Given the description of an element on the screen output the (x, y) to click on. 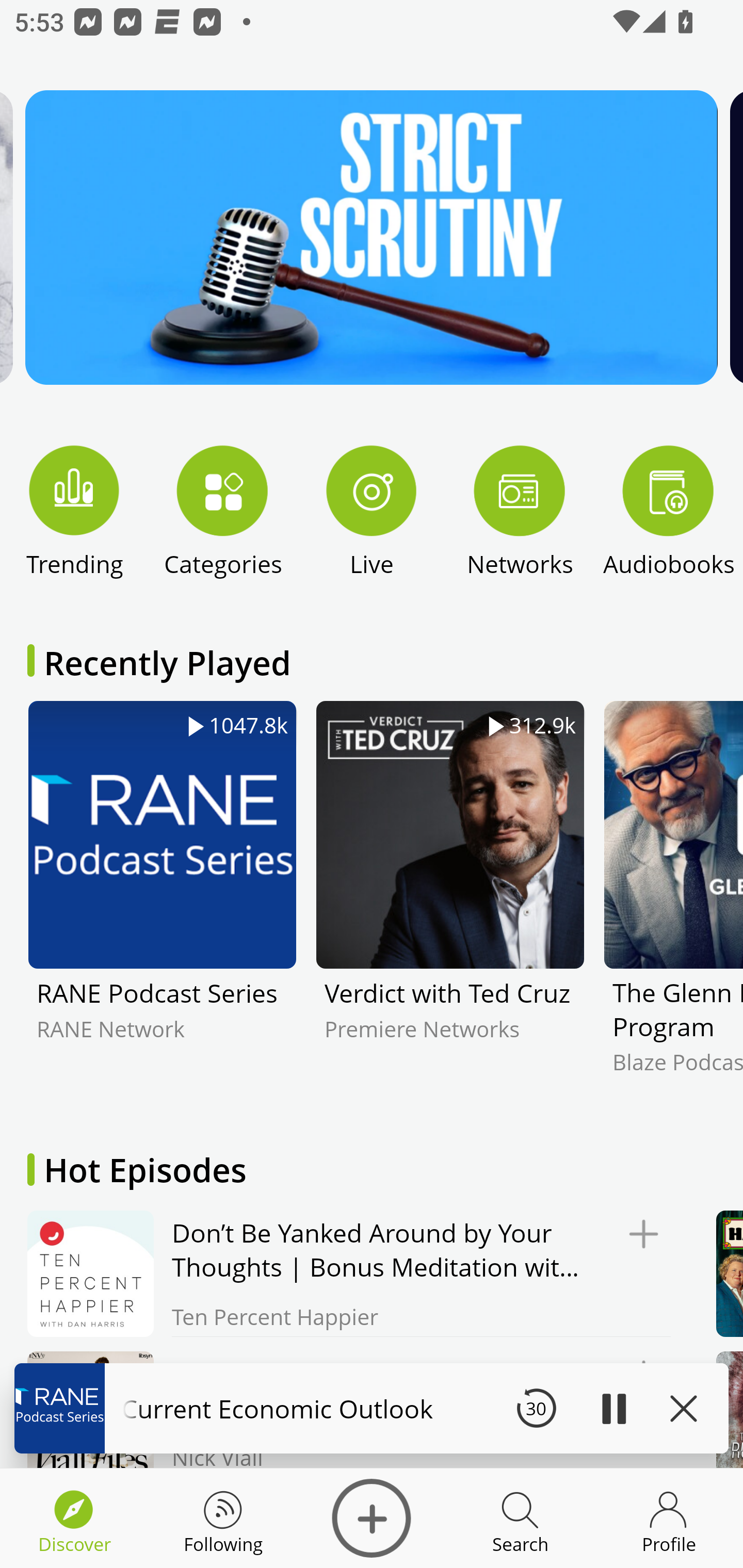
1047.8k RANE Podcast Series RANE Network (162, 902)
312.9k Verdict with Ted Cruz Premiere Networks (450, 902)
The Glenn Beck Program Blaze Podcast Network (673, 902)
Play (613, 1407)
30 Seek Backward (536, 1407)
Discover Following (222, 1518)
Discover (371, 1518)
Discover Search (519, 1518)
Discover Profile (668, 1518)
